Given the description of an element on the screen output the (x, y) to click on. 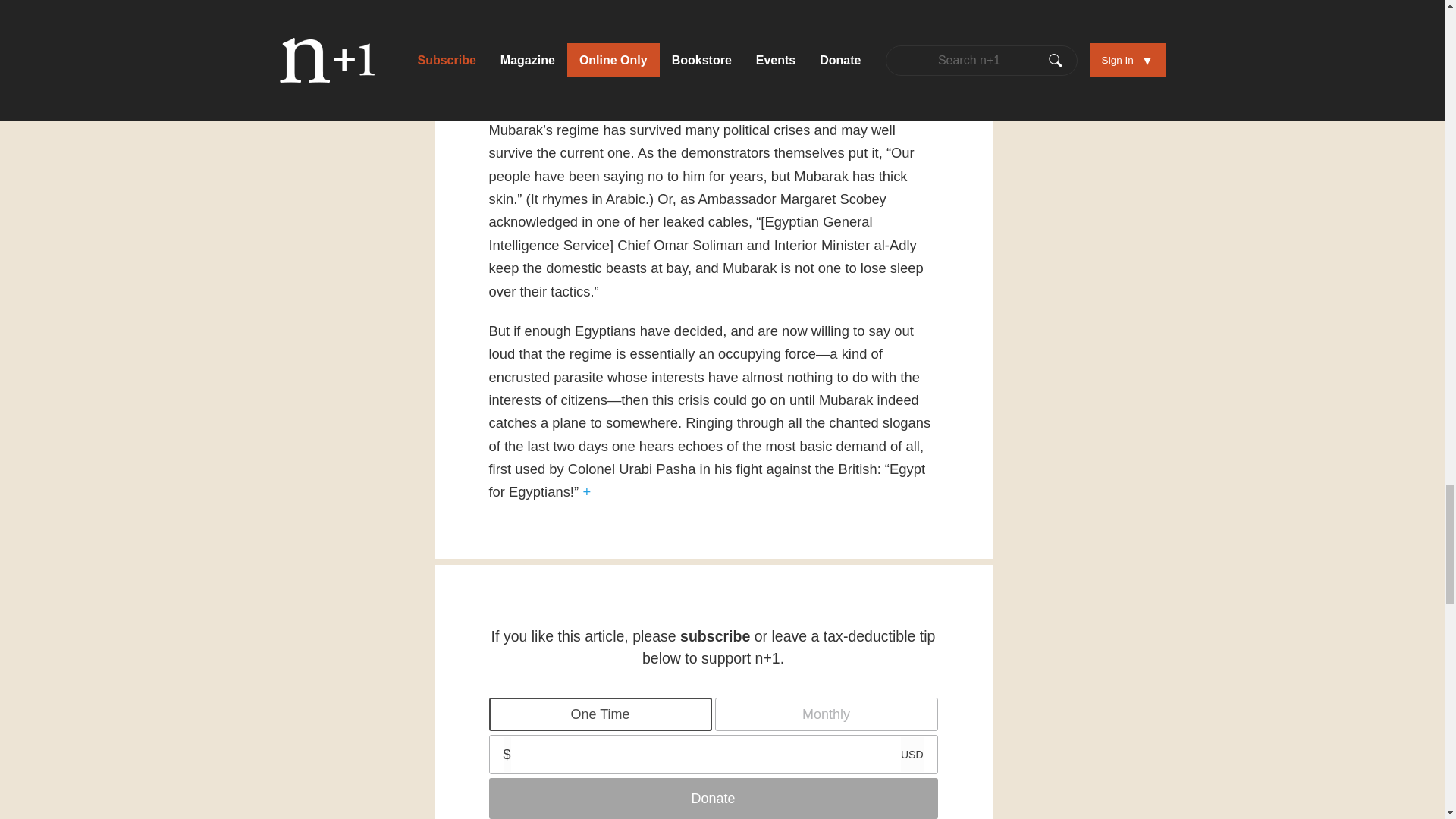
One Time (599, 714)
subscribe (714, 636)
Donate (712, 798)
Monthly (825, 714)
